Given the description of an element on the screen output the (x, y) to click on. 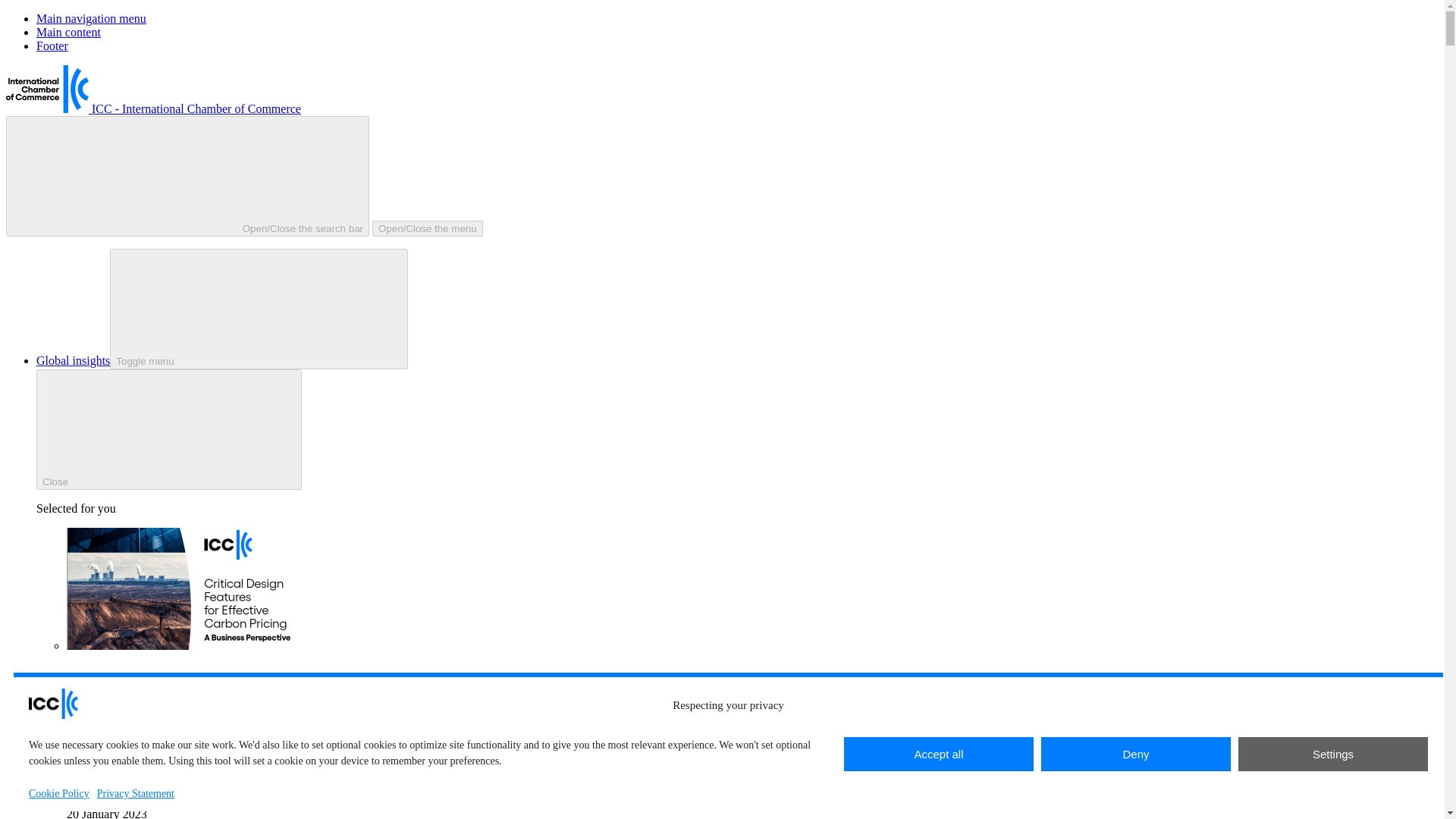
Settings (1333, 754)
Close (168, 429)
Toggle menu (258, 308)
Deny (1135, 754)
ICC - International Chamber of Commerce (153, 108)
Main navigation menu (91, 18)
Cookie Policy (58, 793)
Main content (68, 31)
Global insights (73, 359)
Accept all (938, 754)
Footer (52, 45)
Privacy Statement (135, 793)
